Given the description of an element on the screen output the (x, y) to click on. 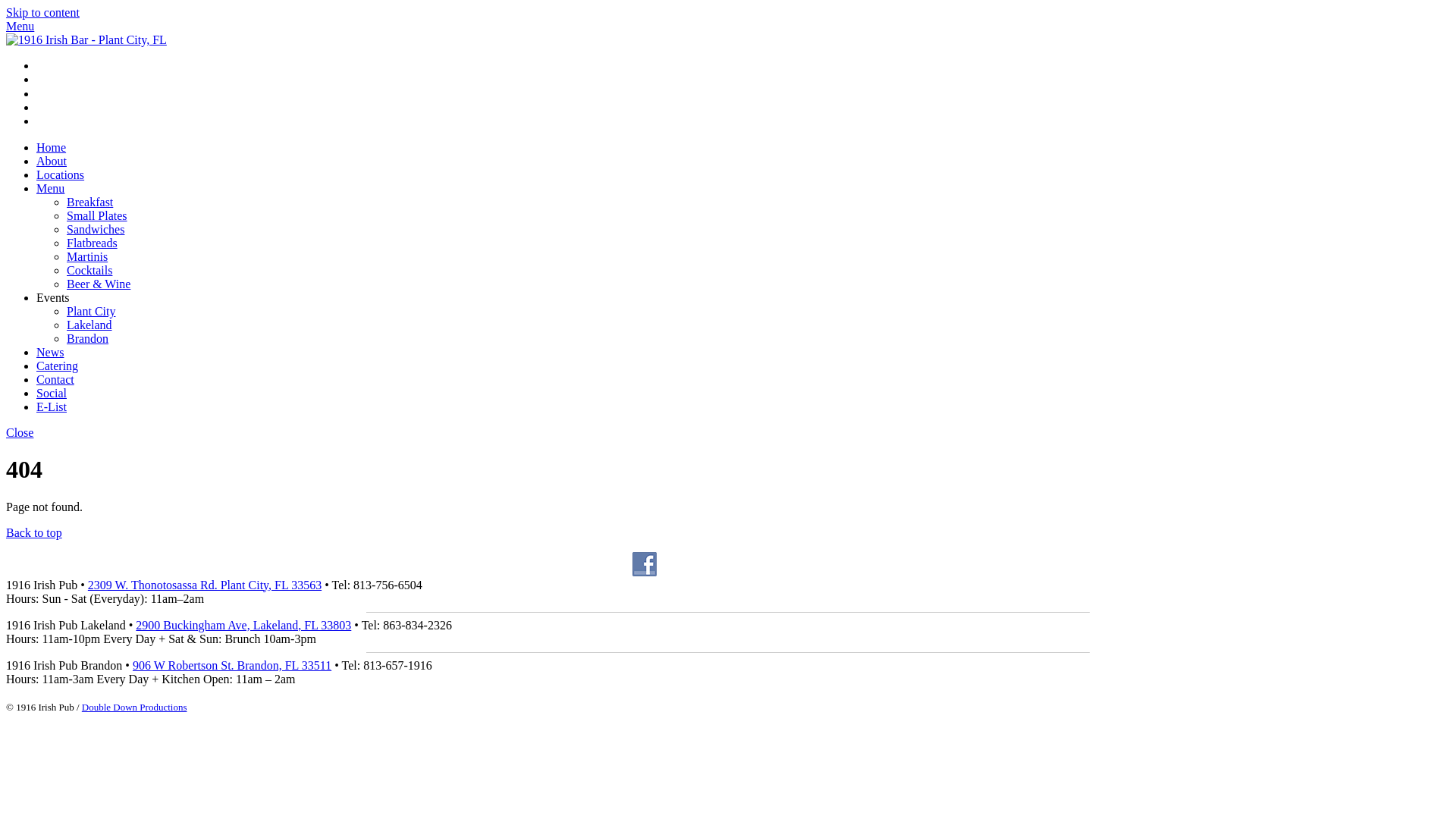
Close Element type: text (19, 432)
2309 W. Thonotosassa Rd. Plant City, FL 33563 Element type: text (204, 584)
2900 Buckingham Ave, Lakeland, FL 33803 Element type: text (243, 624)
Lakeland Element type: text (89, 324)
Skip to content Element type: text (42, 12)
Follow Us on RSS Element type: hover (771, 564)
E-List Element type: text (51, 406)
906 W Robertson St. Brandon, FL 33511 Element type: text (231, 664)
Breakfast Element type: text (89, 201)
Sandwiches Element type: text (95, 228)
Home Element type: text (50, 147)
Double Down Productions Element type: text (134, 706)
Menu Element type: text (50, 188)
Contact Element type: text (55, 379)
Flatbreads Element type: text (91, 242)
Follow Us on Instagram Element type: hover (708, 564)
Follow Us on E-mail Element type: hover (803, 564)
Cocktails Element type: text (89, 269)
Plant City Element type: text (90, 310)
Locations Element type: text (60, 174)
Small Plates Element type: text (96, 215)
News Element type: text (49, 351)
Beer & Wine Element type: text (98, 283)
Social Element type: text (51, 392)
NineteenSixteen_2 Element type: hover (86, 40)
Follow Us on YouTube Element type: hover (740, 564)
Follow Us on Twitter Element type: hover (676, 564)
About Element type: text (51, 160)
Follow Us on Facebook Element type: hover (644, 564)
Martinis Element type: text (86, 256)
Back to top Element type: text (34, 532)
Catering Element type: text (57, 365)
Brandon Element type: text (87, 338)
1916 Irish Bar - Plant City, FL Element type: hover (86, 39)
Menu Element type: text (20, 25)
Events Element type: text (52, 297)
